Given the description of an element on the screen output the (x, y) to click on. 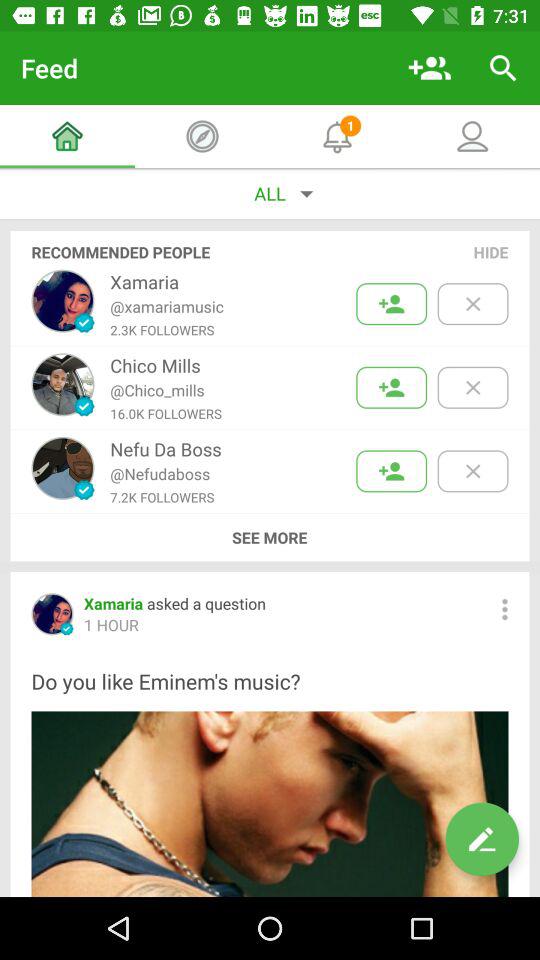
remove person from list (472, 387)
